Given the description of an element on the screen output the (x, y) to click on. 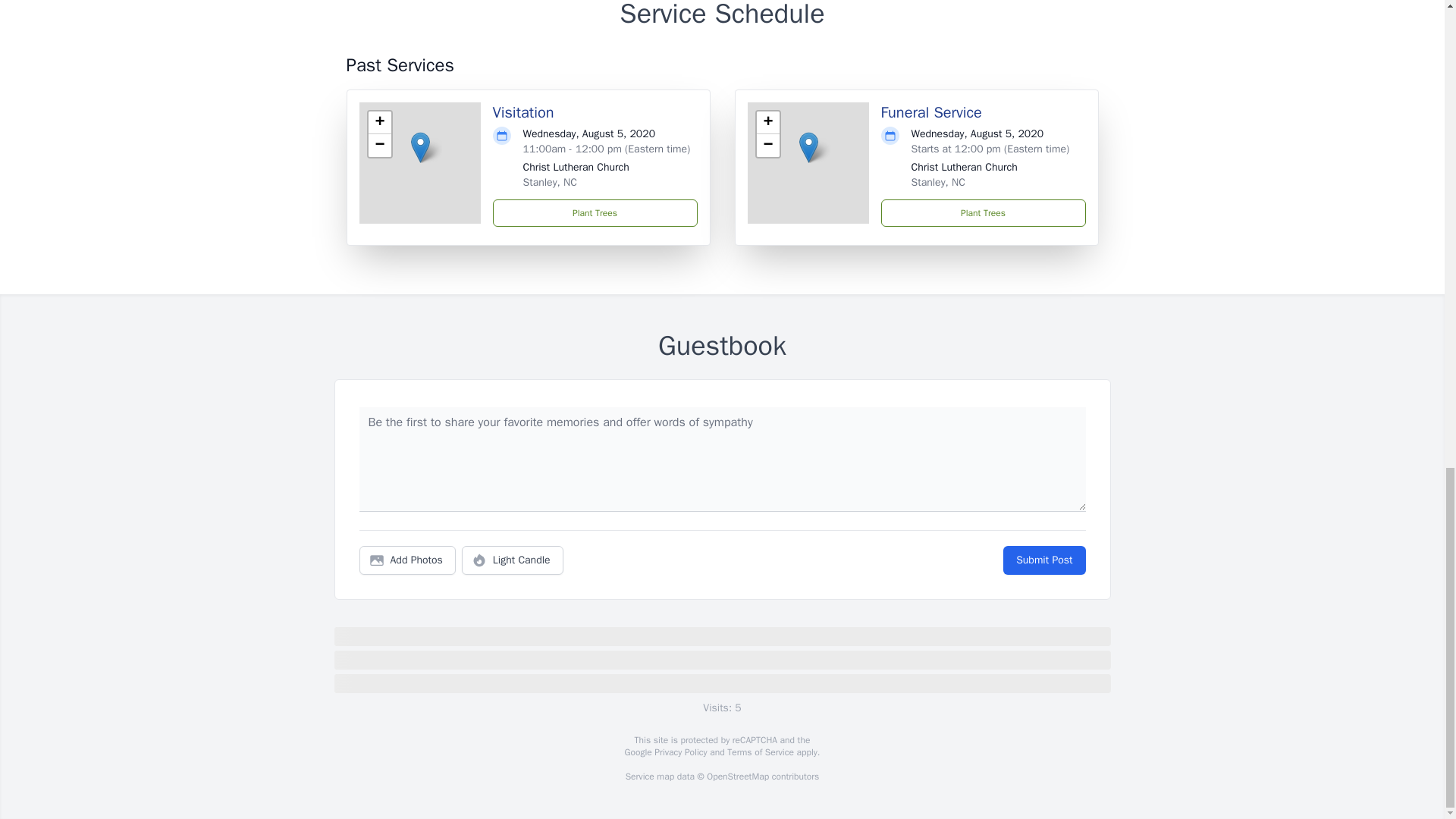
Zoom out (379, 145)
Plant Trees (595, 212)
Stanley, NC (938, 182)
Add Photos (407, 560)
Stanley, NC (549, 182)
Terms of Service (759, 752)
Submit Post (1043, 560)
Privacy Policy (679, 752)
Zoom out (767, 145)
Zoom in (767, 122)
Zoom in (379, 122)
OpenStreetMap (737, 776)
Light Candle (512, 560)
Plant Trees (983, 212)
